Given the description of an element on the screen output the (x, y) to click on. 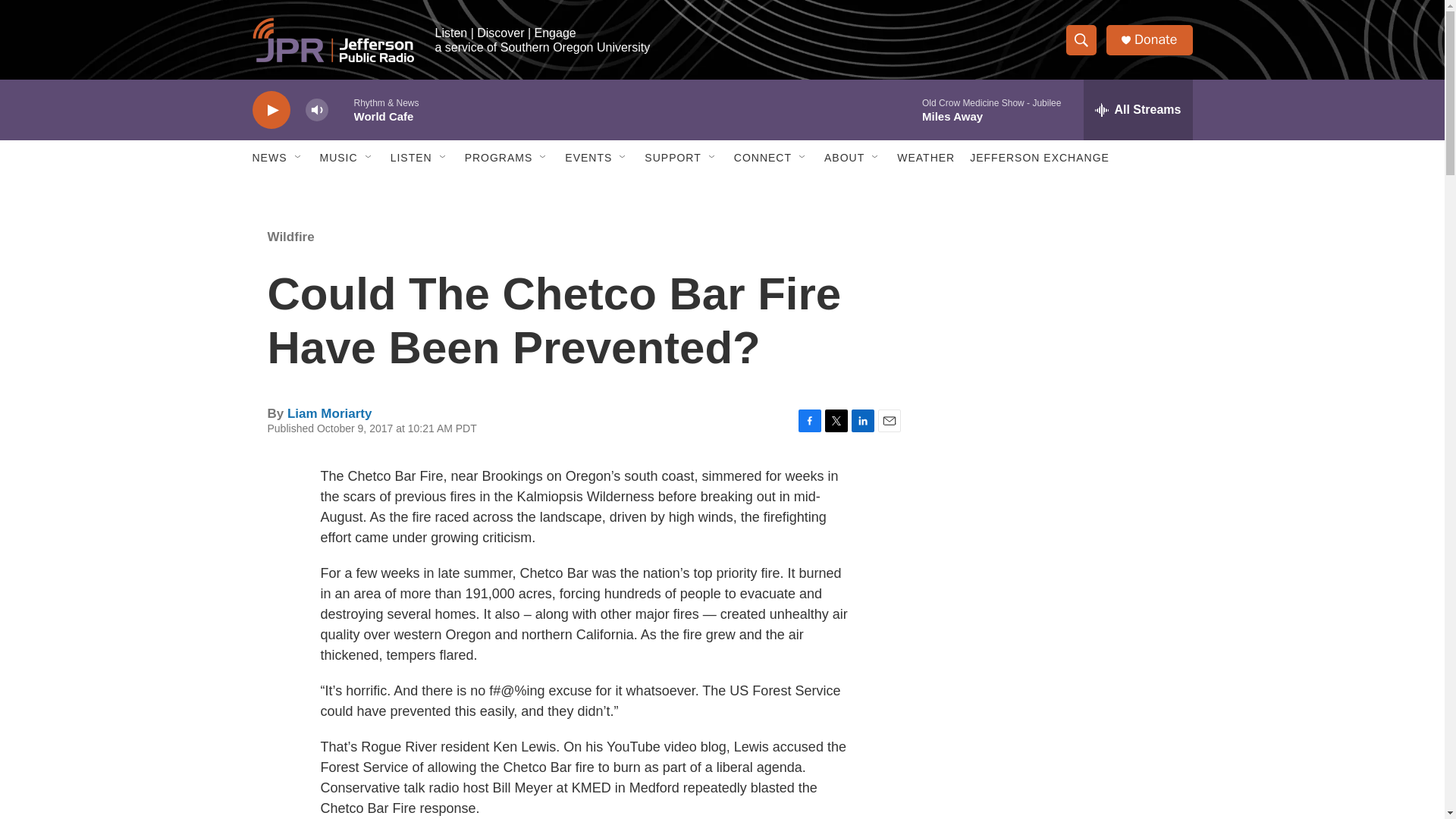
3rd party ad content (1062, 316)
3rd party ad content (1062, 740)
3rd party ad content (1062, 536)
